Given the description of an element on the screen output the (x, y) to click on. 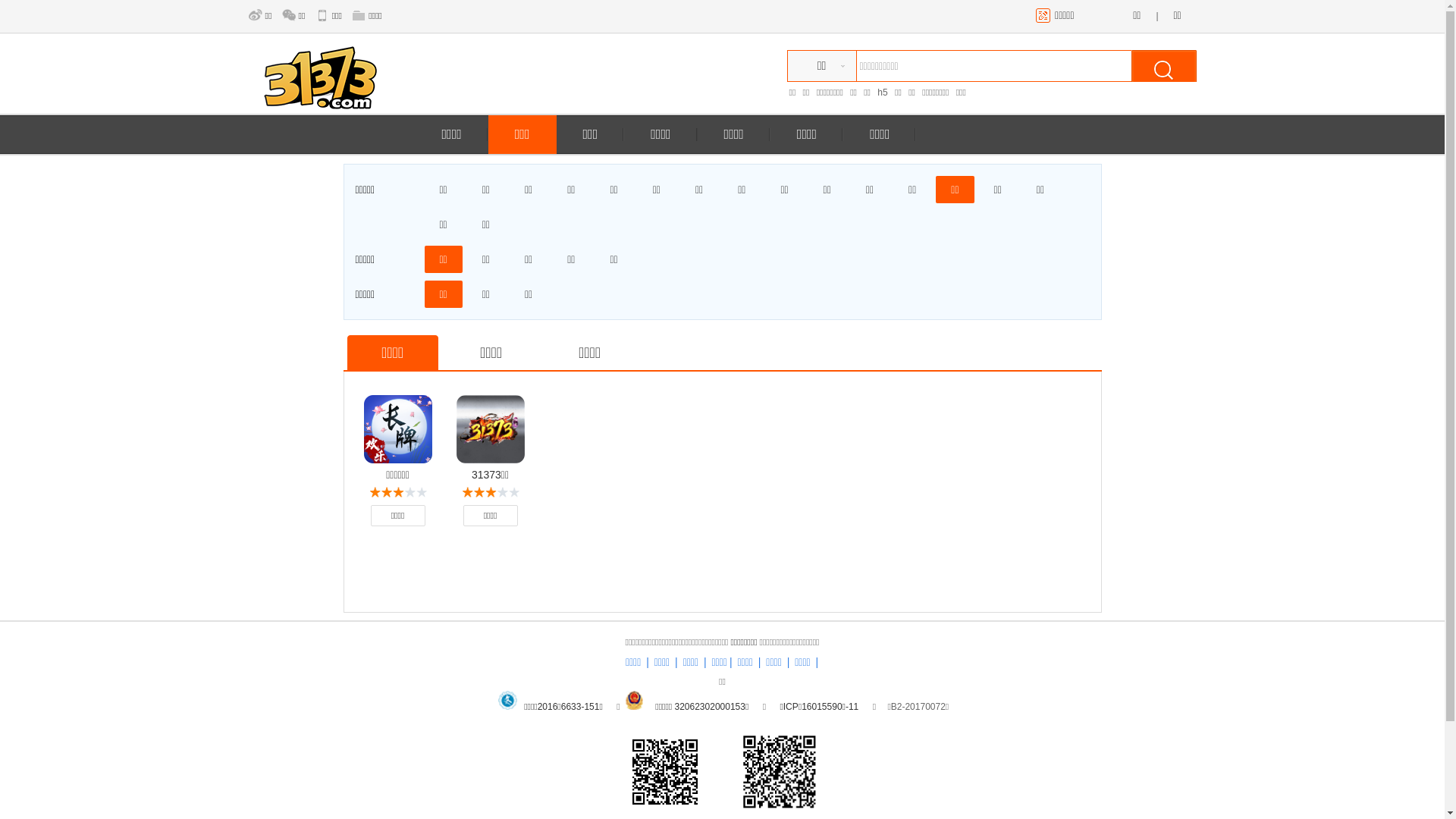
h5 Element type: text (882, 92)
